Given the description of an element on the screen output the (x, y) to click on. 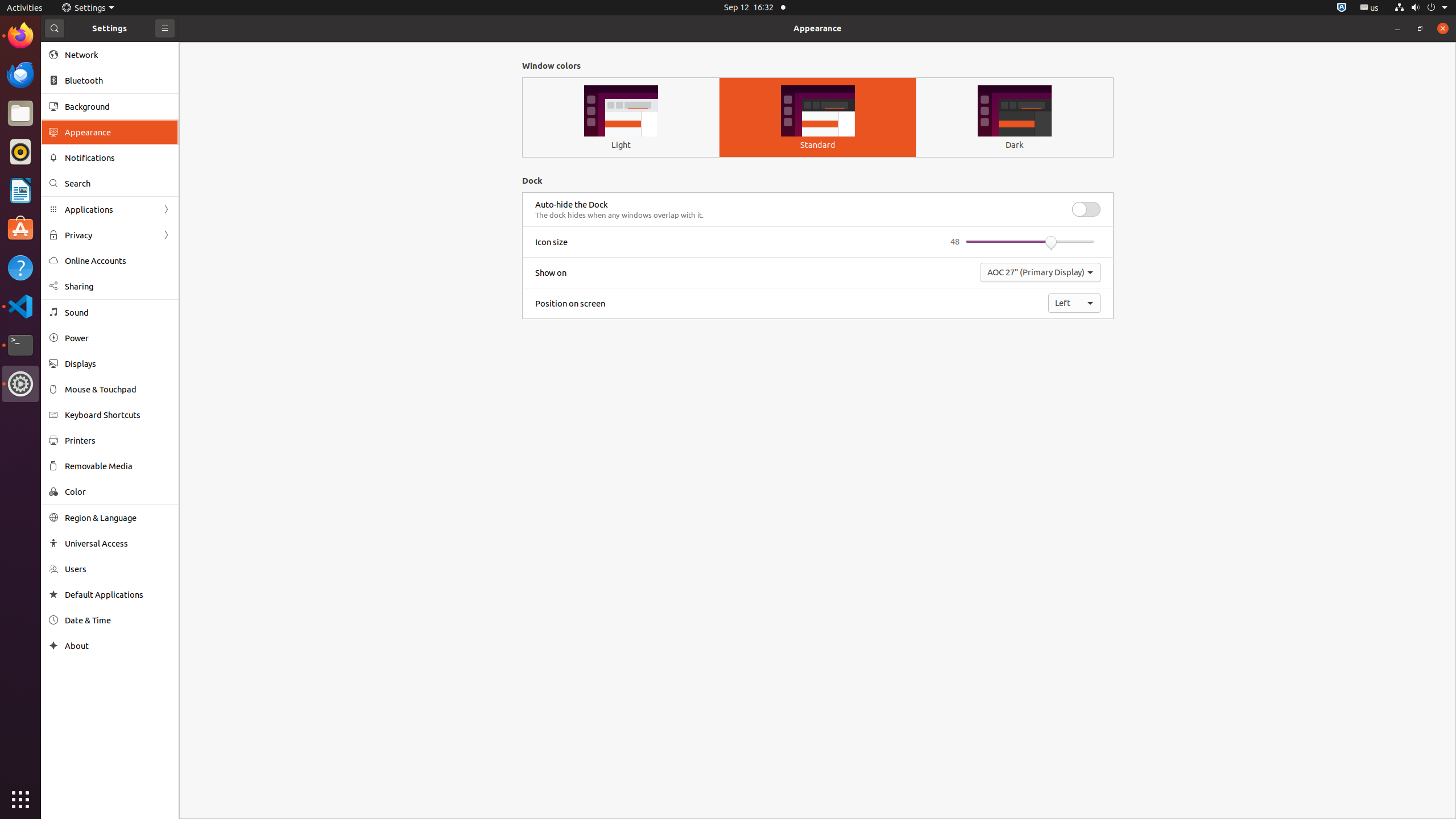
Activities Element type: label (24, 7)
IsaHelpMain.desktop Element type: label (75, 170)
Sound Element type: label (117, 312)
About Element type: icon (53, 645)
Settings Element type: push-button (20, 383)
